Given the description of an element on the screen output the (x, y) to click on. 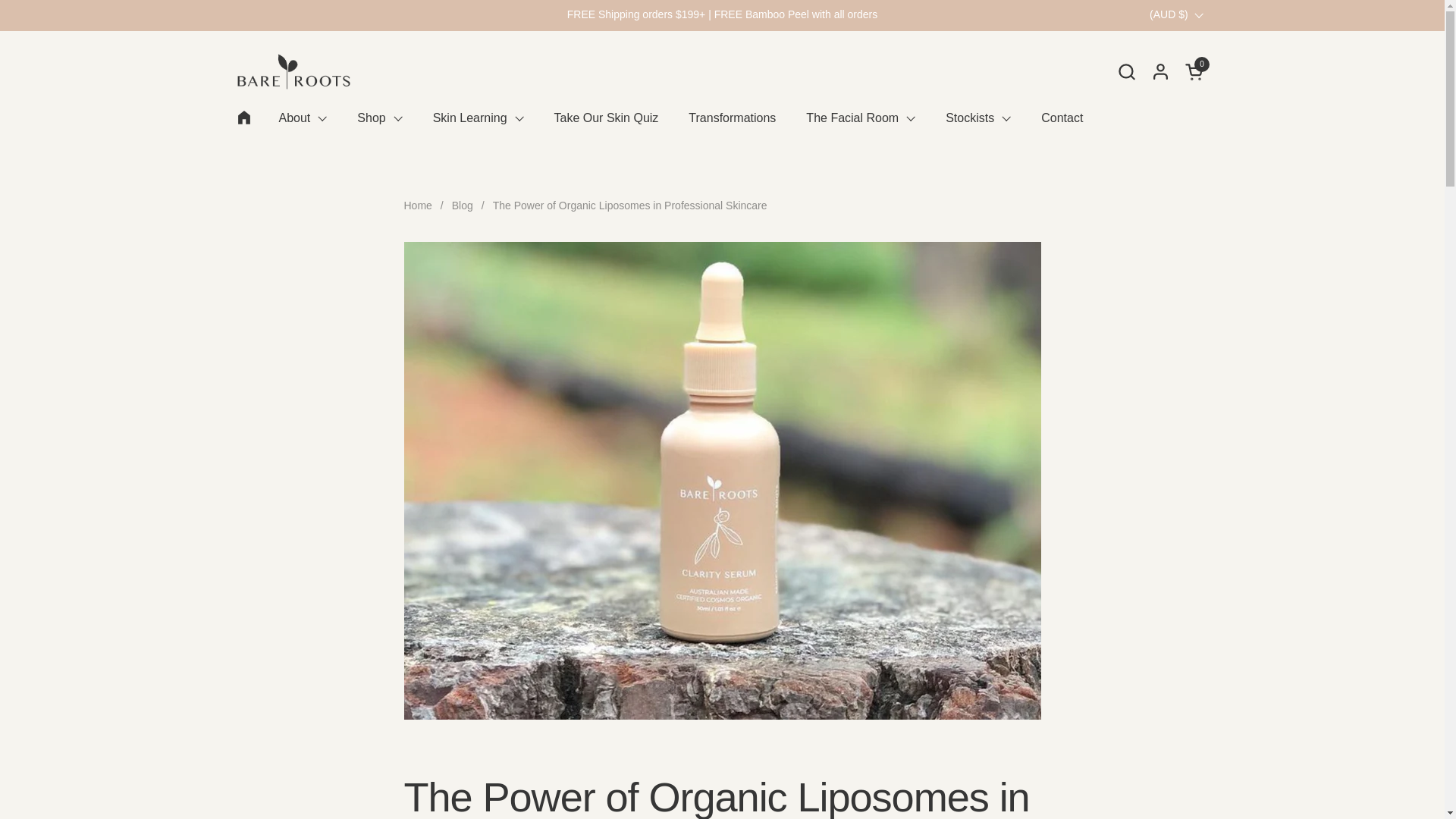
About (302, 117)
Open search (1125, 71)
Shop (379, 117)
Bare Roots (1196, 71)
Open cart (292, 71)
Skin Learning (1196, 71)
